Given the description of an element on the screen output the (x, y) to click on. 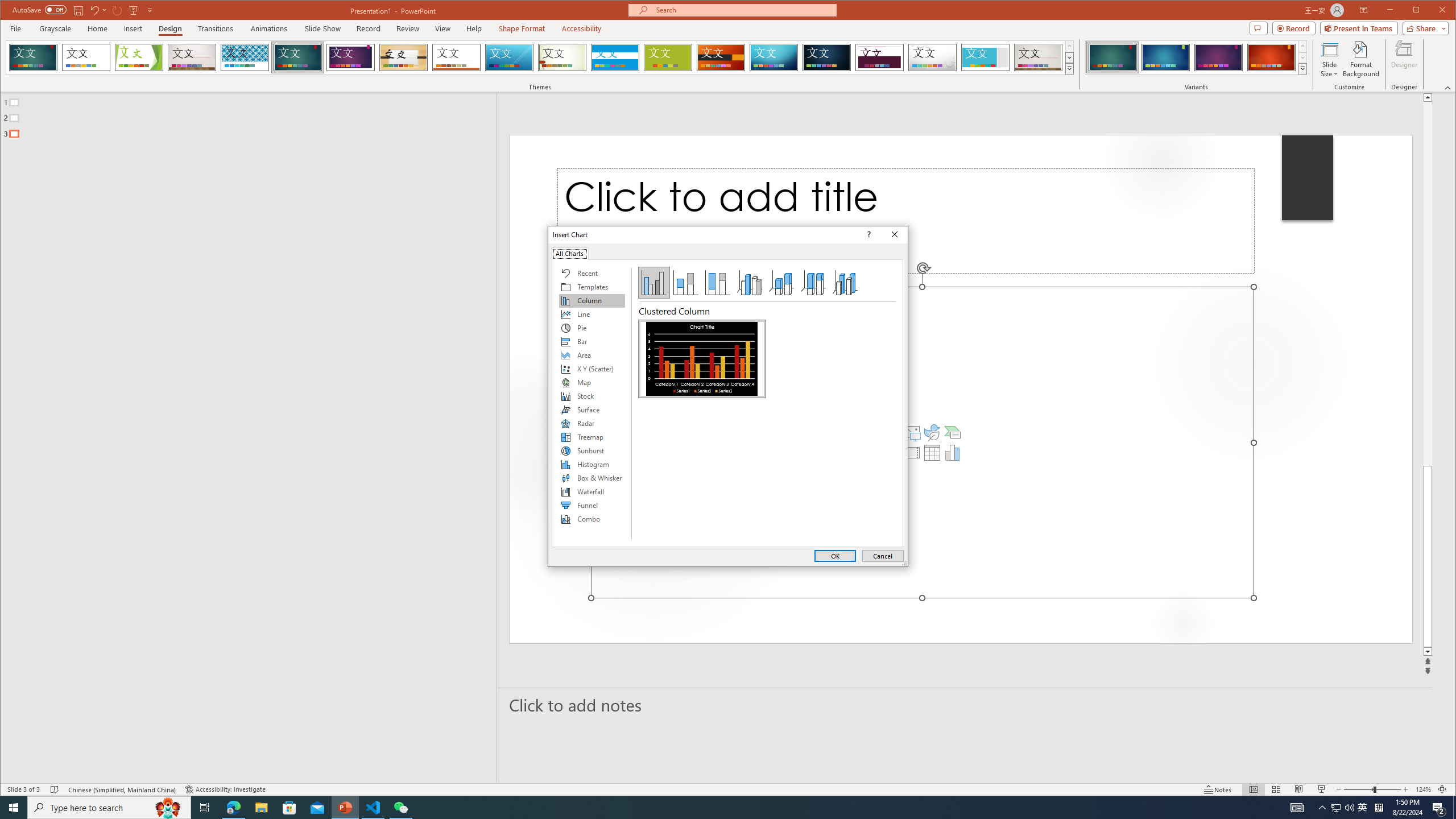
X Y (Scatter) (591, 368)
Banded (615, 57)
Funnel (591, 505)
